Given the description of an element on the screen output the (x, y) to click on. 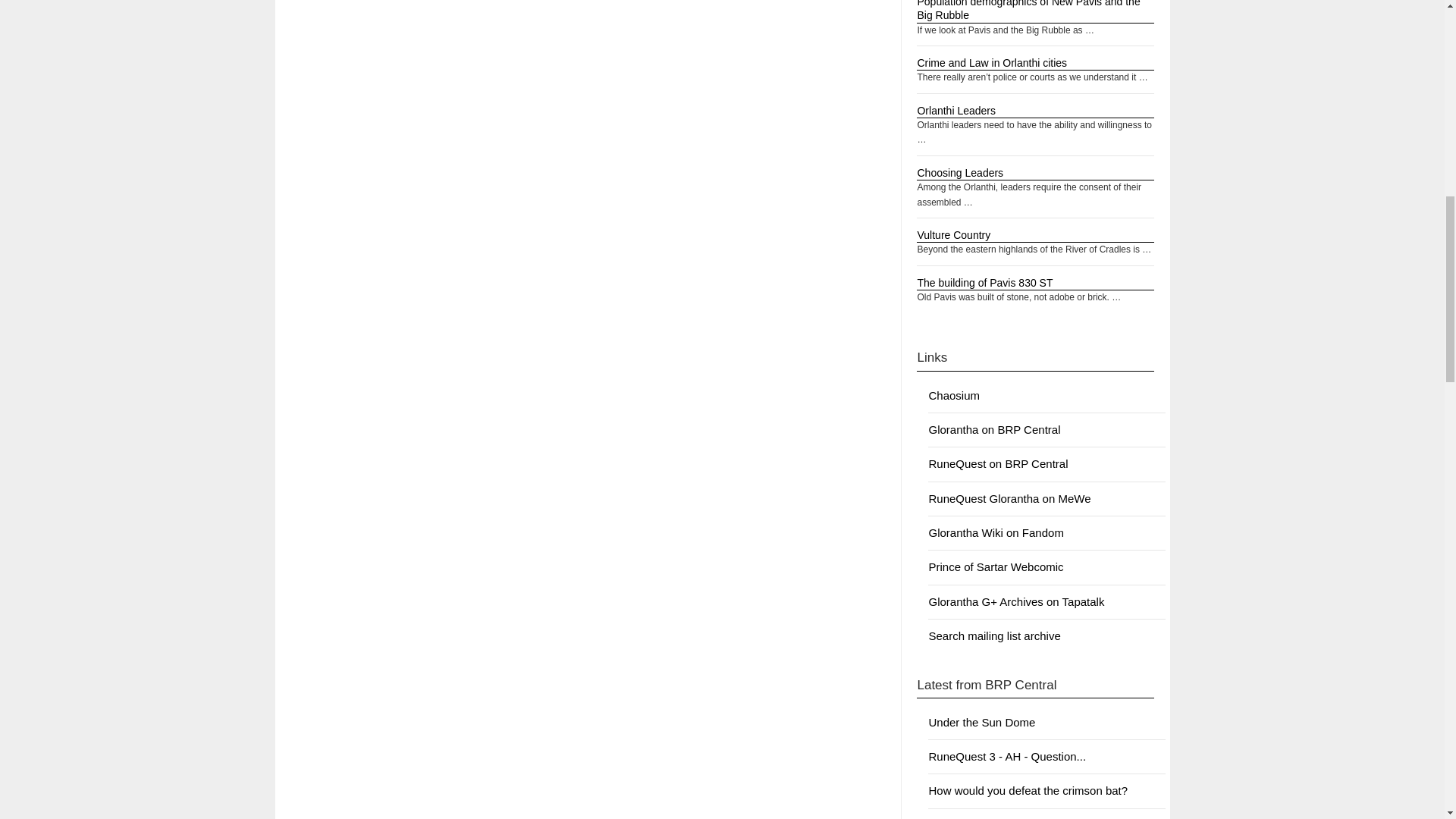
Under the Sun Dome (981, 721)
Vulture Country (953, 234)
Prince of Sartar Webcomic (995, 566)
Chaosium (953, 395)
Crime and Law in Orlanthi cities (992, 62)
Orlanthi Leaders (956, 110)
RuneQuest Glorantha on MeWe (1009, 498)
Glorantha on BRP Central (993, 429)
The building of Pavis 830 ST (984, 282)
RuneQuest on BRP Central (997, 463)
